Given the description of an element on the screen output the (x, y) to click on. 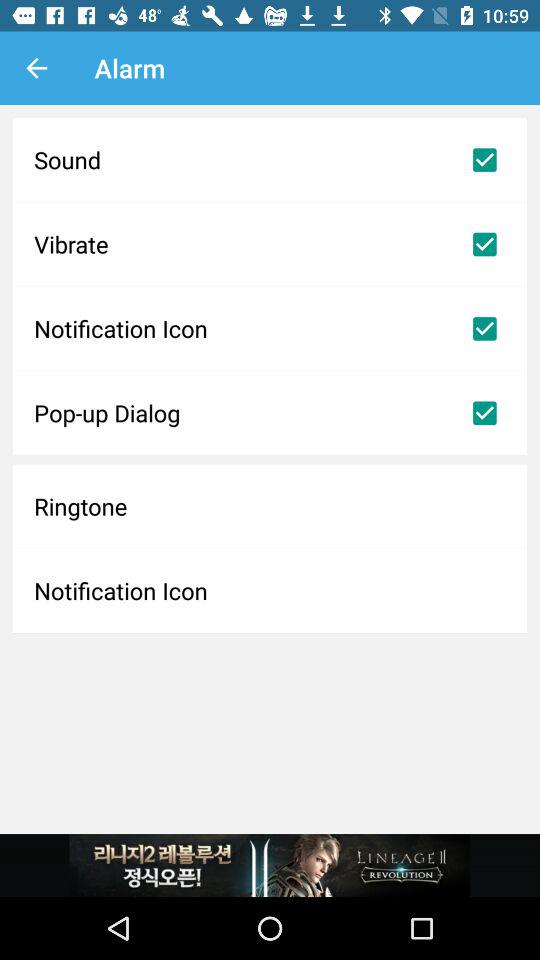
select ringtone item (269, 506)
